Given the description of an element on the screen output the (x, y) to click on. 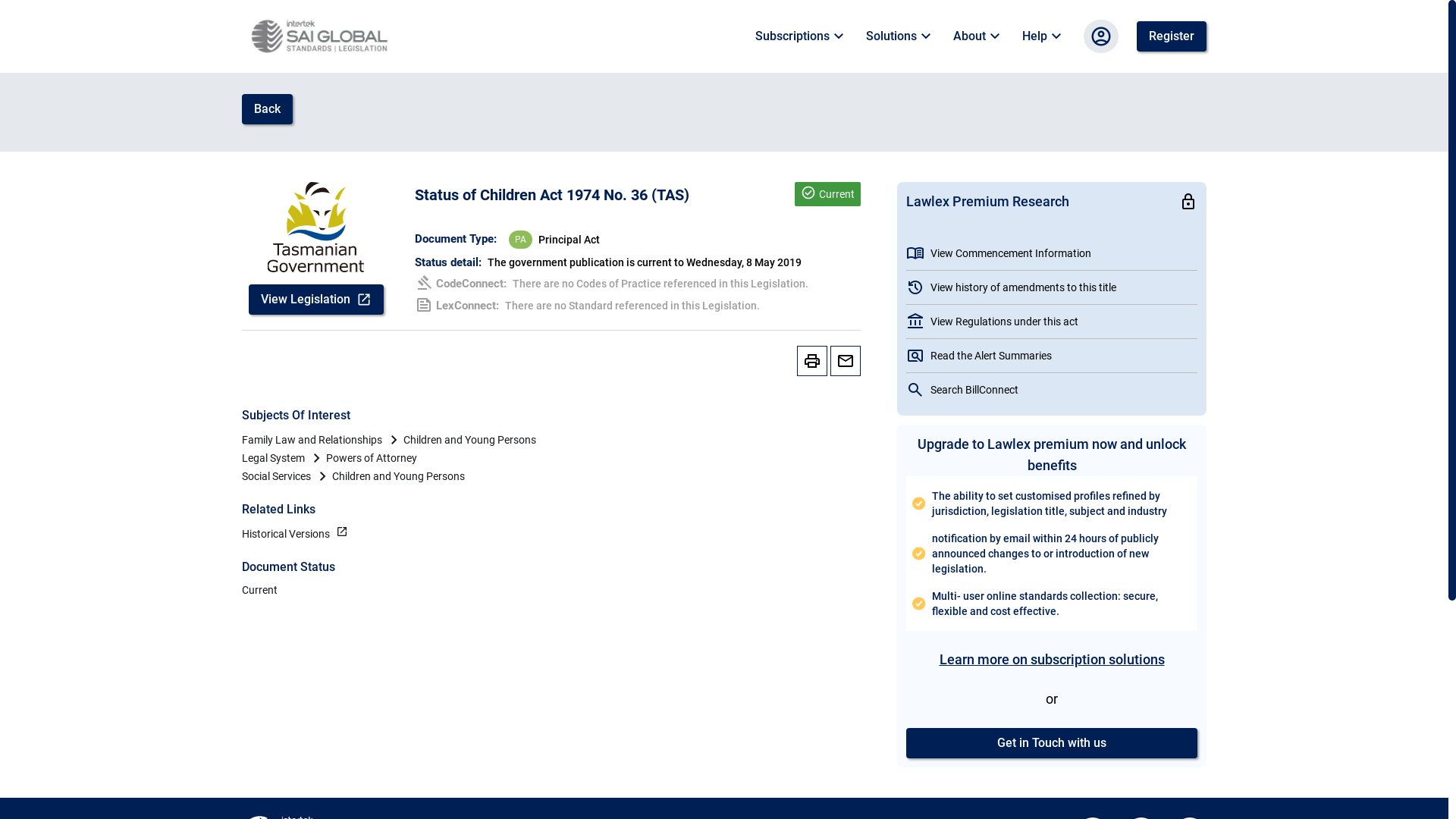
Family Law and Relationships Element type: text (311, 439)
Register Element type: text (1171, 36)
Get in Touch with us Element type: text (1051, 743)
Get in Touch with us Element type: text (1051, 743)
Powers of Attorney Element type: text (371, 457)
Social Services Element type: text (275, 476)
Register Element type: text (1171, 36)
Historical Versions Element type: text (285, 533)
Back Element type: text (266, 109)
Children and Young Persons Element type: text (469, 439)
Children and Young Persons Element type: text (398, 476)
Legal System Element type: text (272, 457)
View Legislation
open_in_new Element type: text (315, 299)
